Given the description of an element on the screen output the (x, y) to click on. 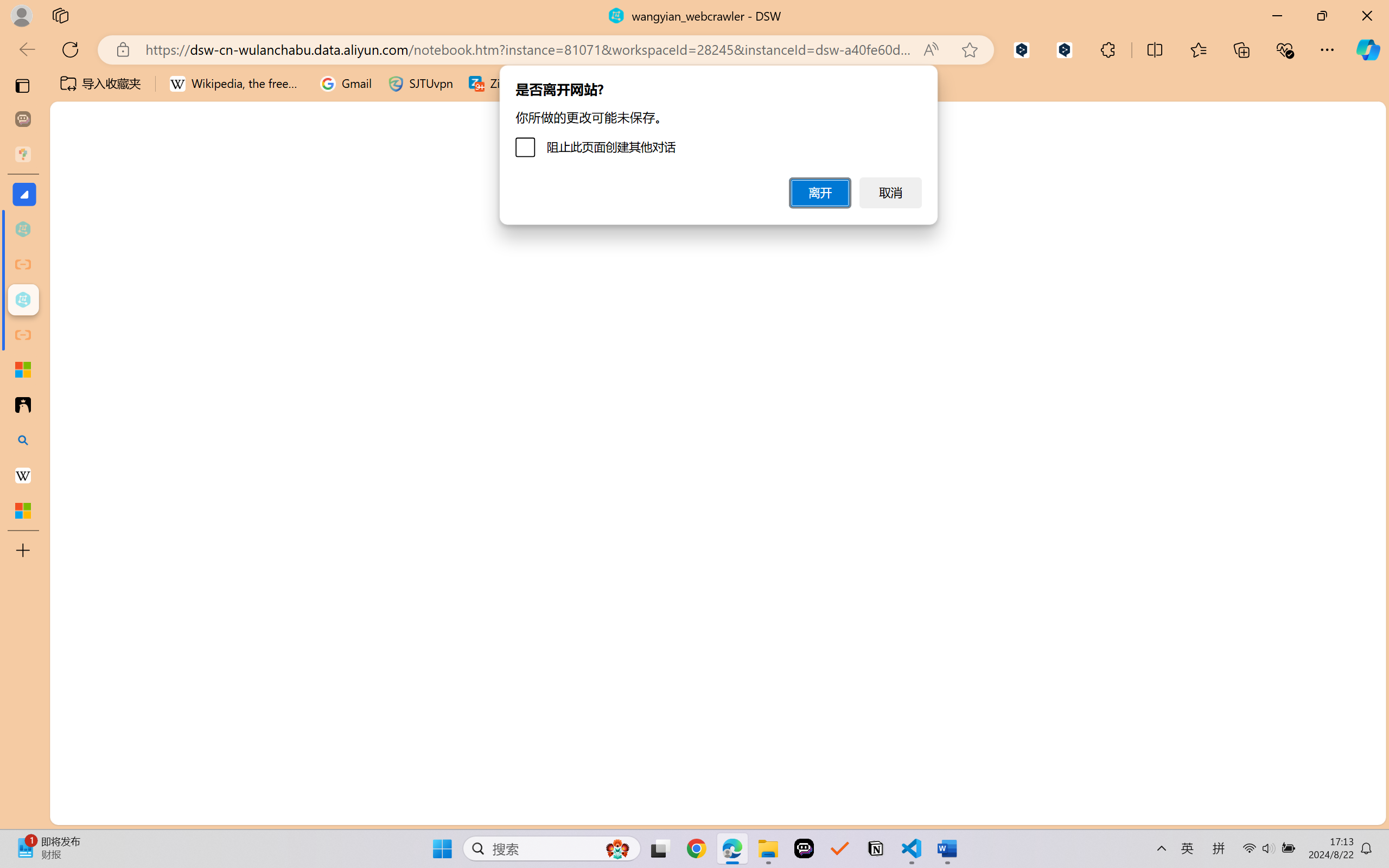
Adjust indents and spacing - Microsoft Support (22, 369)
